Given the description of an element on the screen output the (x, y) to click on. 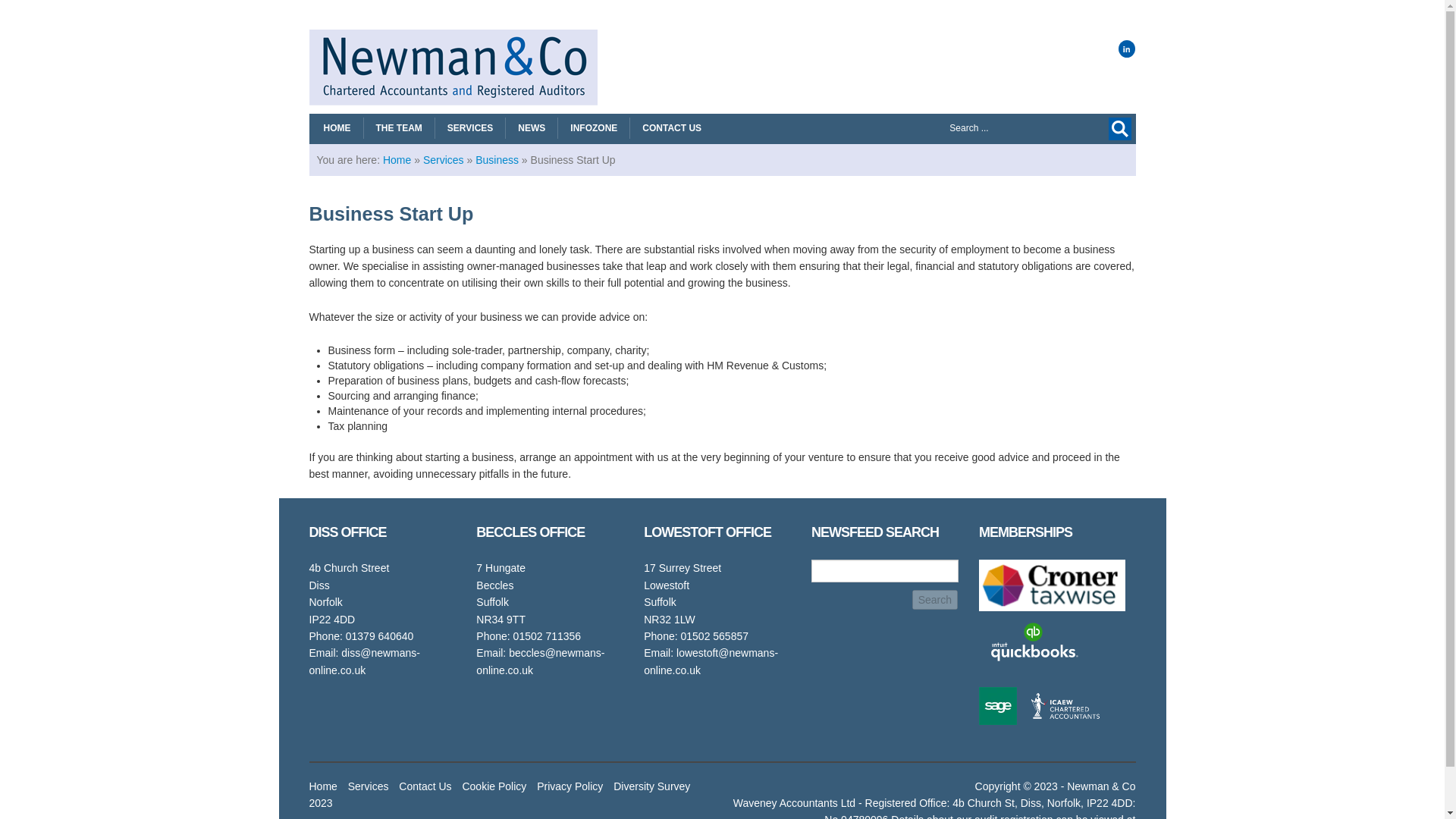
HOME (337, 127)
Linkedin (1126, 48)
Search (1119, 128)
Search (935, 599)
Search ... (988, 127)
THE TEAM (398, 127)
Search (935, 599)
CONTACT US (671, 127)
NEWS (531, 127)
SERVICES (469, 127)
INFOZONE (593, 127)
Linkedin (1126, 48)
